Given the description of an element on the screen output the (x, y) to click on. 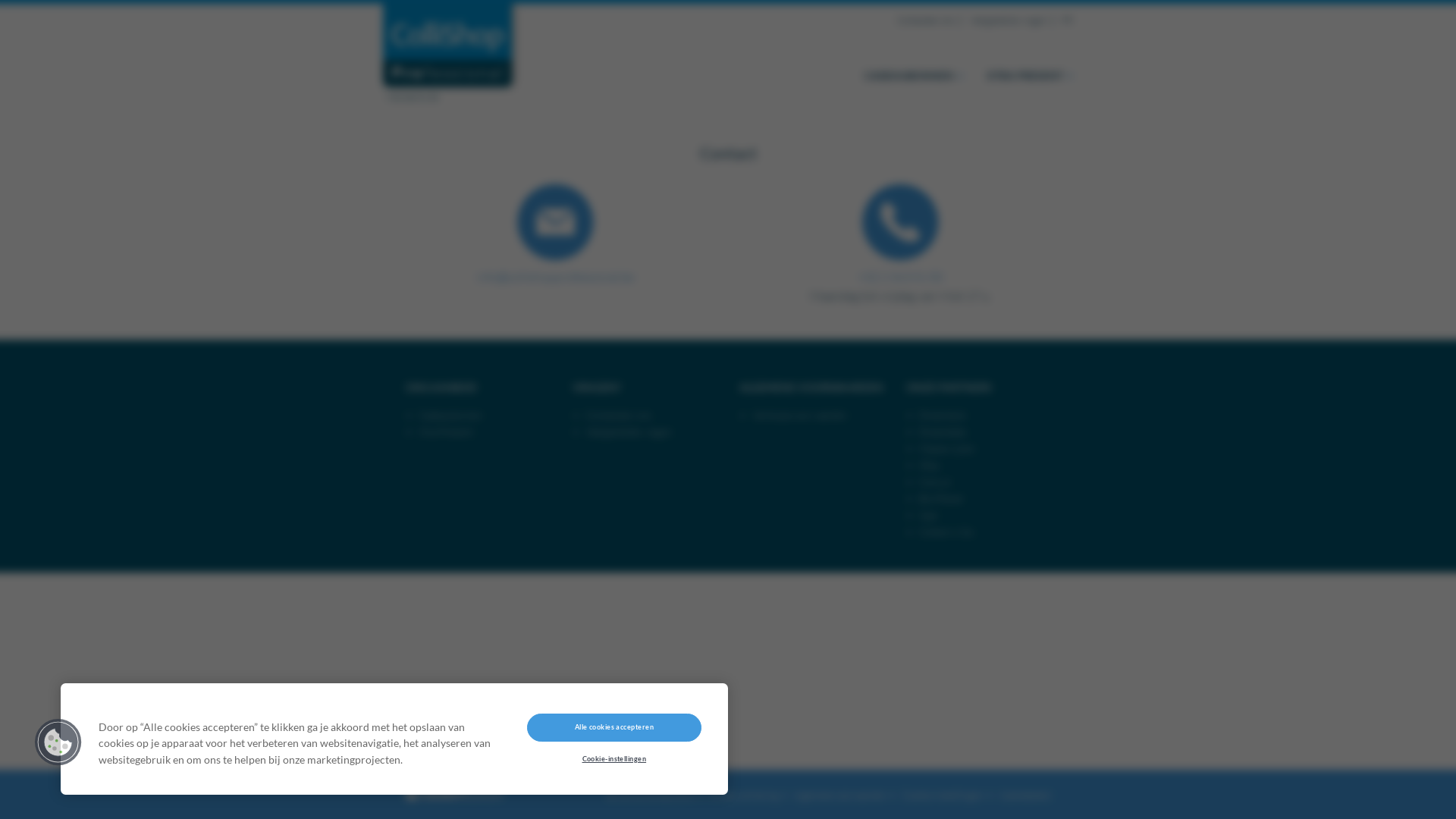
Dreamland Element type: text (942, 414)
XTRA PRESENT Element type: text (1029, 75)
Verkoopsvoorwaarden Element type: text (799, 414)
Veelgestelde vragen Element type: text (1007, 20)
Spar Element type: text (928, 514)
Alle cookies accepteren Element type: text (614, 726)
Collishop Professional Element type: text (446, 53)
02 363 51 50 Element type: text (412, 96)
FR Element type: text (1067, 20)
Bio-Planet Element type: text (941, 498)
Cookie-instellingen Element type: text (942, 794)
Colruyt Element type: text (934, 481)
Privacyverklaring Element type: text (743, 794)
Contacteer ons Element type: text (618, 414)
Cookiebeleid Element type: text (1022, 794)
Klassewijnen Element type: text (947, 448)
info@collishopprofessional.be Element type: text (554, 276)
ONZE PARTNERS Element type: text (948, 386)
Collect & Go Element type: text (946, 531)
Xtra Present Element type: text (445, 431)
ALGEMENE VOORWAARDEN Element type: text (811, 386)
Okay Element type: text (929, 464)
Cookie-instellingen Element type: text (614, 758)
Cadeaubonnen Element type: text (450, 414)
CADEAUBONNEN Element type: text (914, 75)
Contacteer ons Element type: text (925, 20)
Dreambaby Element type: text (943, 431)
Veelgestelde vragen Element type: text (628, 431)
Cookies Button Element type: text (58, 742)
+32 2 363 51 50 Element type: text (900, 276)
Algemene voorwaarden Element type: text (839, 794)
